Given the description of an element on the screen output the (x, y) to click on. 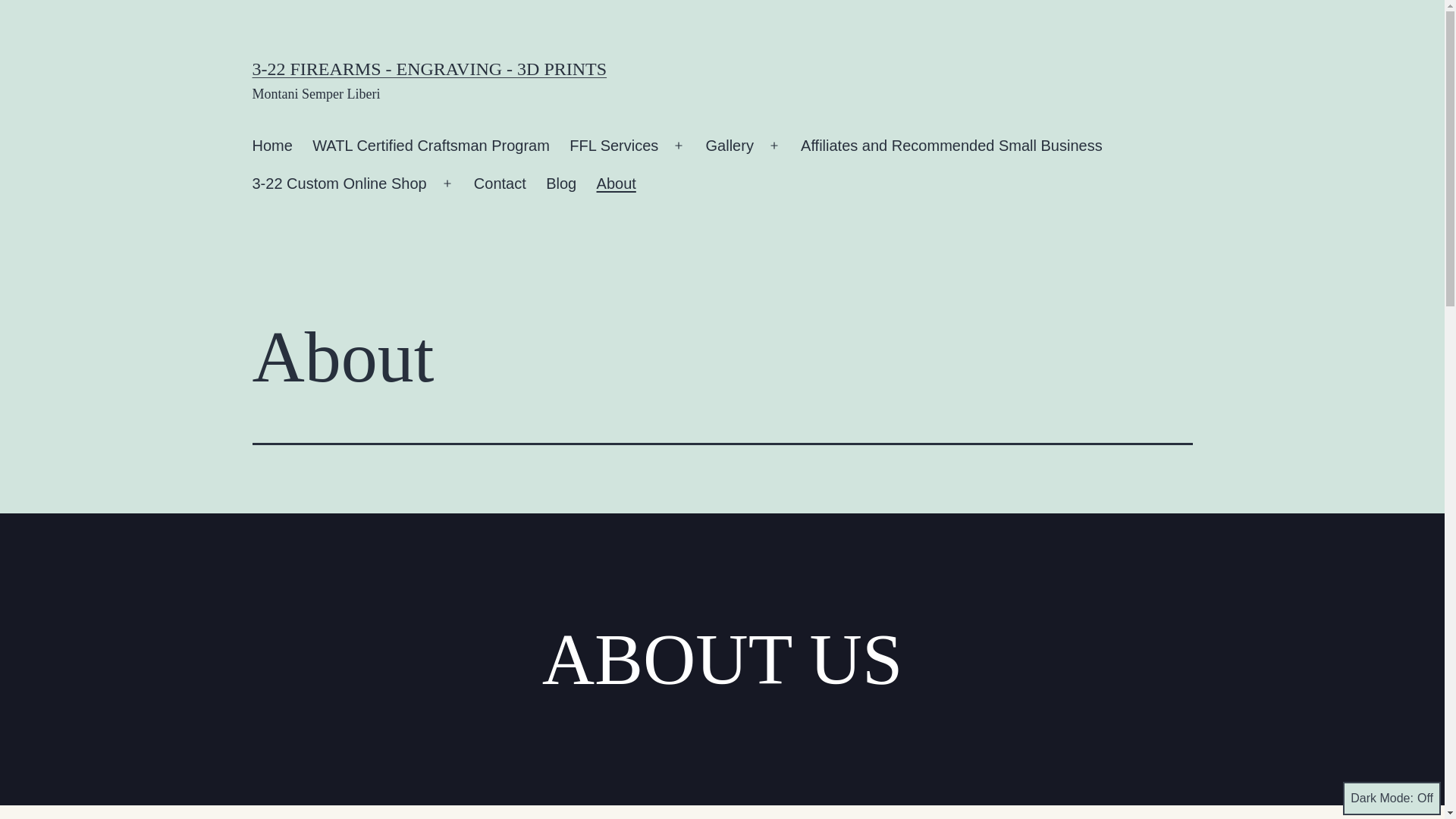
Gallery Element type: text (729, 145)
Dark Mode: Element type: text (1391, 798)
About Element type: text (616, 184)
FFL Services Element type: text (613, 145)
Contact Element type: text (500, 184)
Home Element type: text (271, 145)
Open menu Element type: text (678, 145)
3-22 Custom Online Shop Element type: text (338, 184)
Open menu Element type: text (447, 184)
Blog Element type: text (561, 184)
3-22 FIREARMS - ENGRAVING - 3D PRINTS Element type: text (428, 68)
Open menu Element type: text (773, 145)
WATL Certified Craftsman Program Element type: text (430, 145)
Affiliates and Recommended Small Business Element type: text (951, 145)
